Given the description of an element on the screen output the (x, y) to click on. 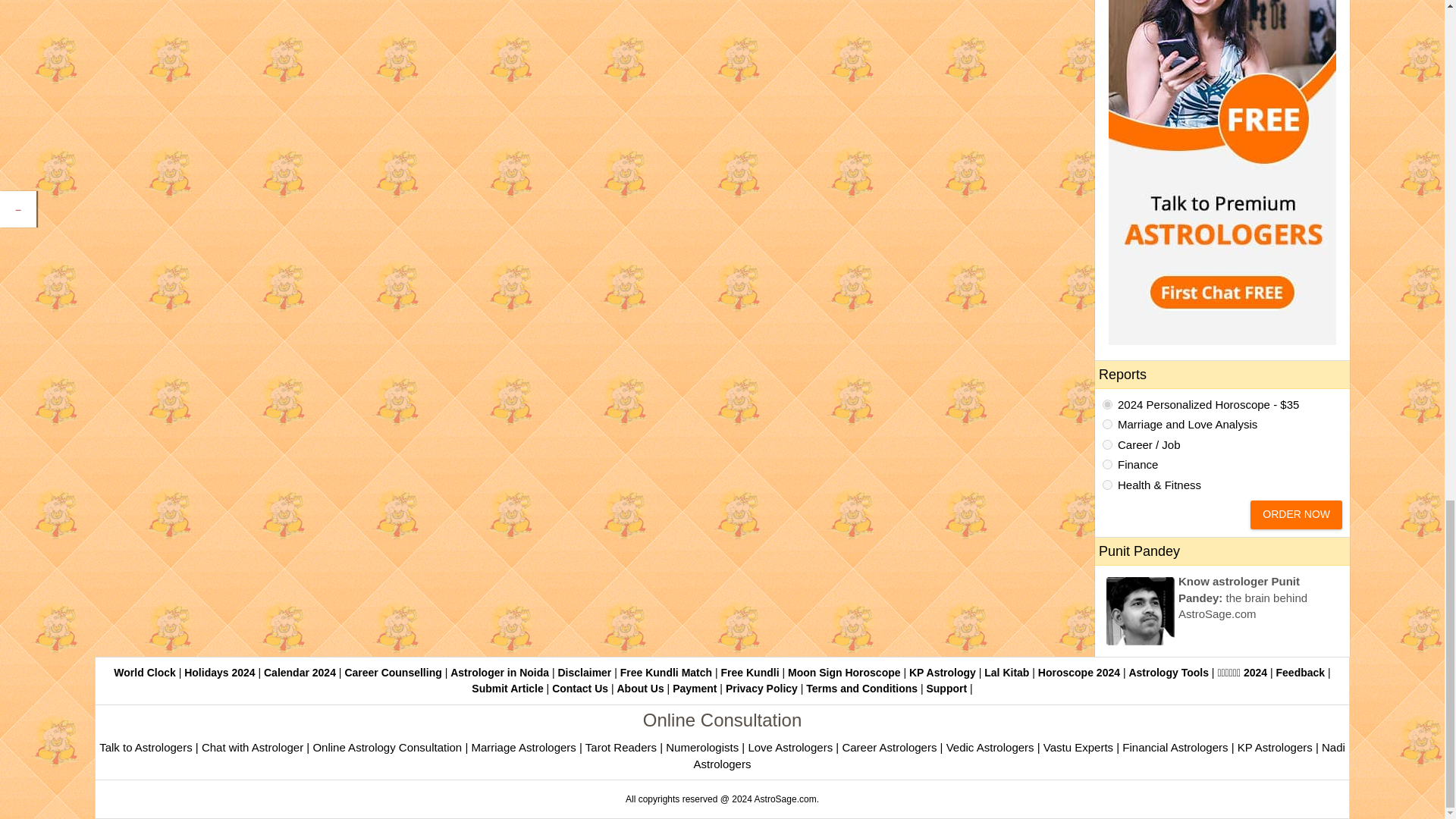
health-fitness (1107, 484)
marriage-and-love-analysis-new2 (1107, 424)
career-job-new2 (1107, 444)
2016-personalized-horoscope-new (1107, 404)
finance-new2 (1107, 464)
